Given the description of an element on the screen output the (x, y) to click on. 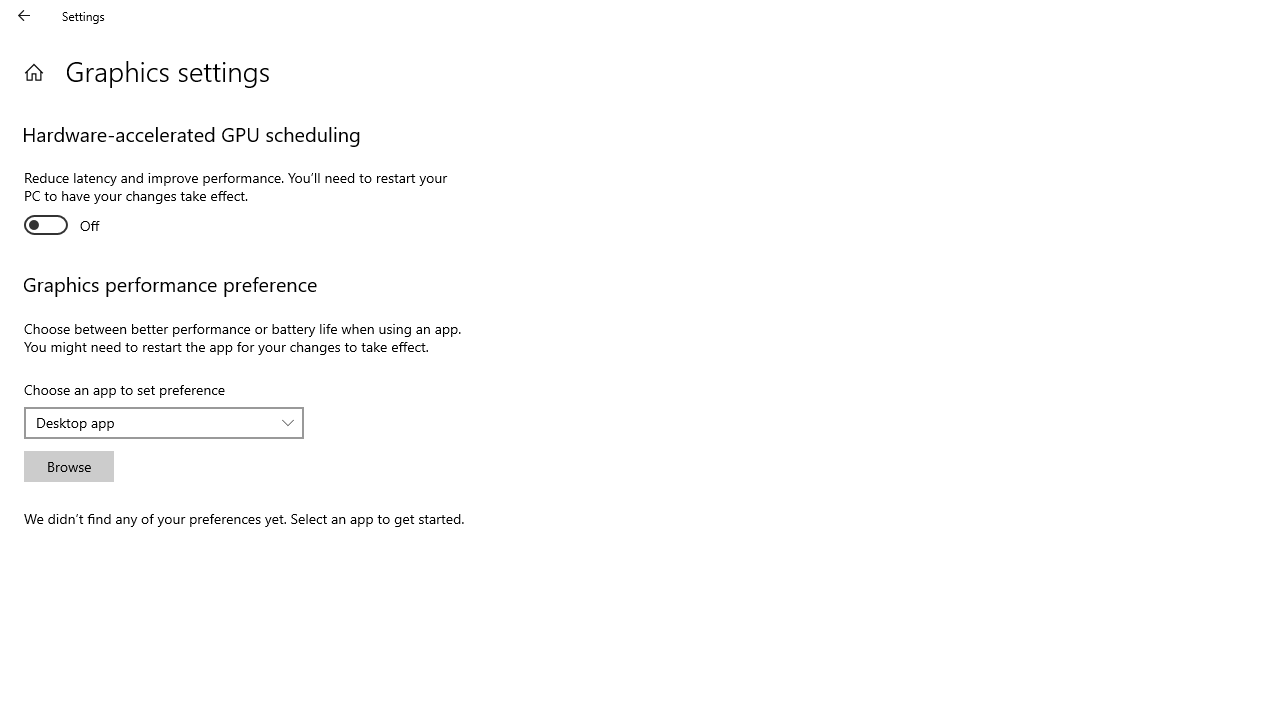
Home (33, 71)
Choose an app to set preference (164, 422)
Back (24, 15)
Browse (68, 465)
Desktop app (153, 422)
